Given the description of an element on the screen output the (x, y) to click on. 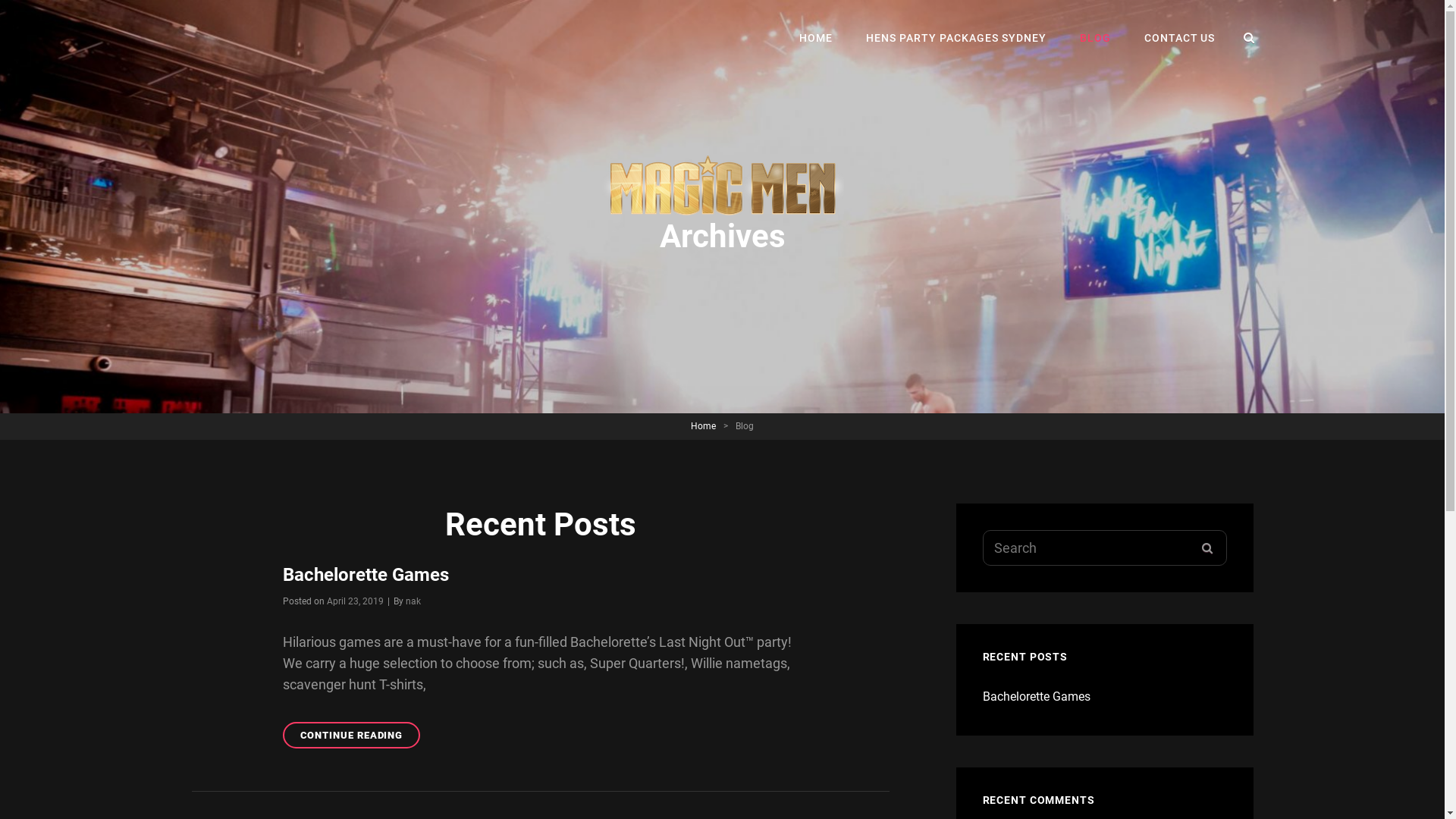
HOME Element type: text (815, 37)
Bachelorette Games Element type: text (365, 574)
BLOG Element type: text (1095, 37)
HENS PARTY PACKAGES SYDNEY Element type: text (955, 37)
CONTACT US Element type: text (1179, 37)
April 23, 2019 Element type: text (354, 601)
Bachelorette Games Element type: text (1036, 696)
http://www.nakedtreaties.com.au/ Element type: hover (721, 185)
CONTINUE READING
BACHELORETTE GAMES Element type: text (351, 734)
SEARCH Element type: text (1249, 37)
nak Element type: text (412, 601)
Home Element type: text (702, 425)
Naked Treaties Male Strippers Sydney Element type: text (395, 52)
SEARCH Element type: text (1207, 547)
